Given the description of an element on the screen output the (x, y) to click on. 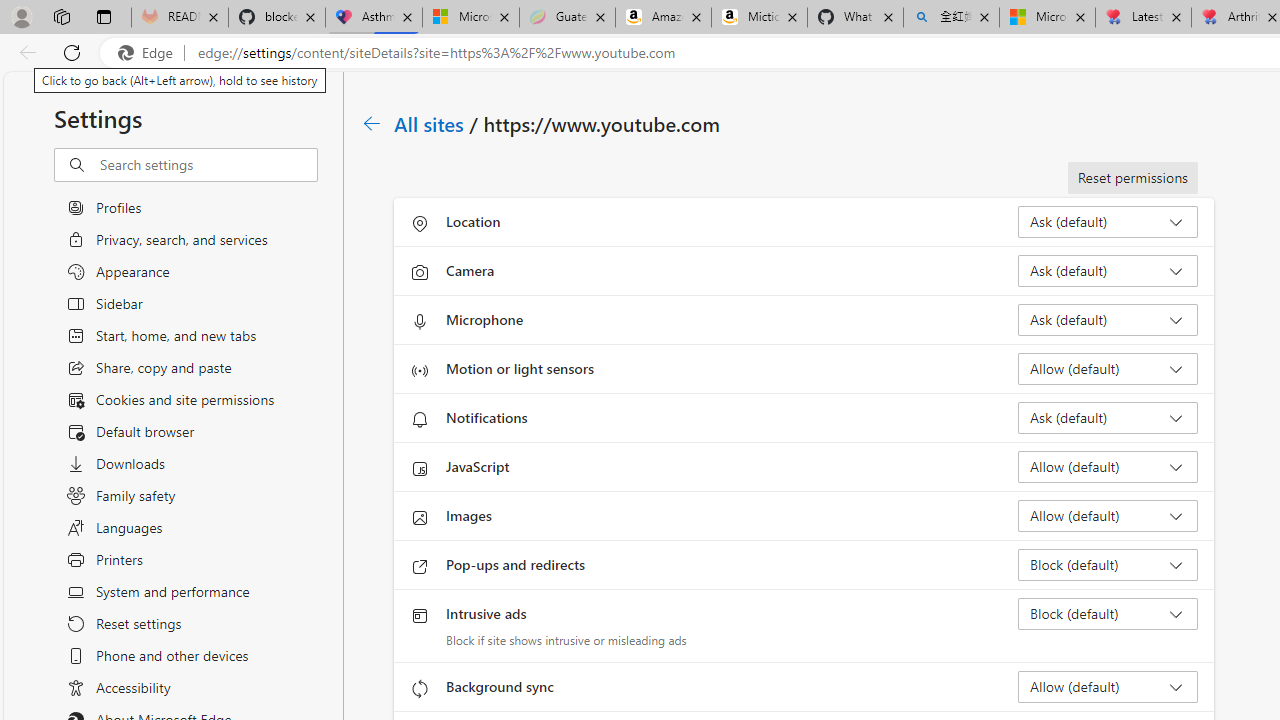
Edge (150, 53)
Motion or light sensors Allow (default) (1107, 368)
